Given the description of an element on the screen output the (x, y) to click on. 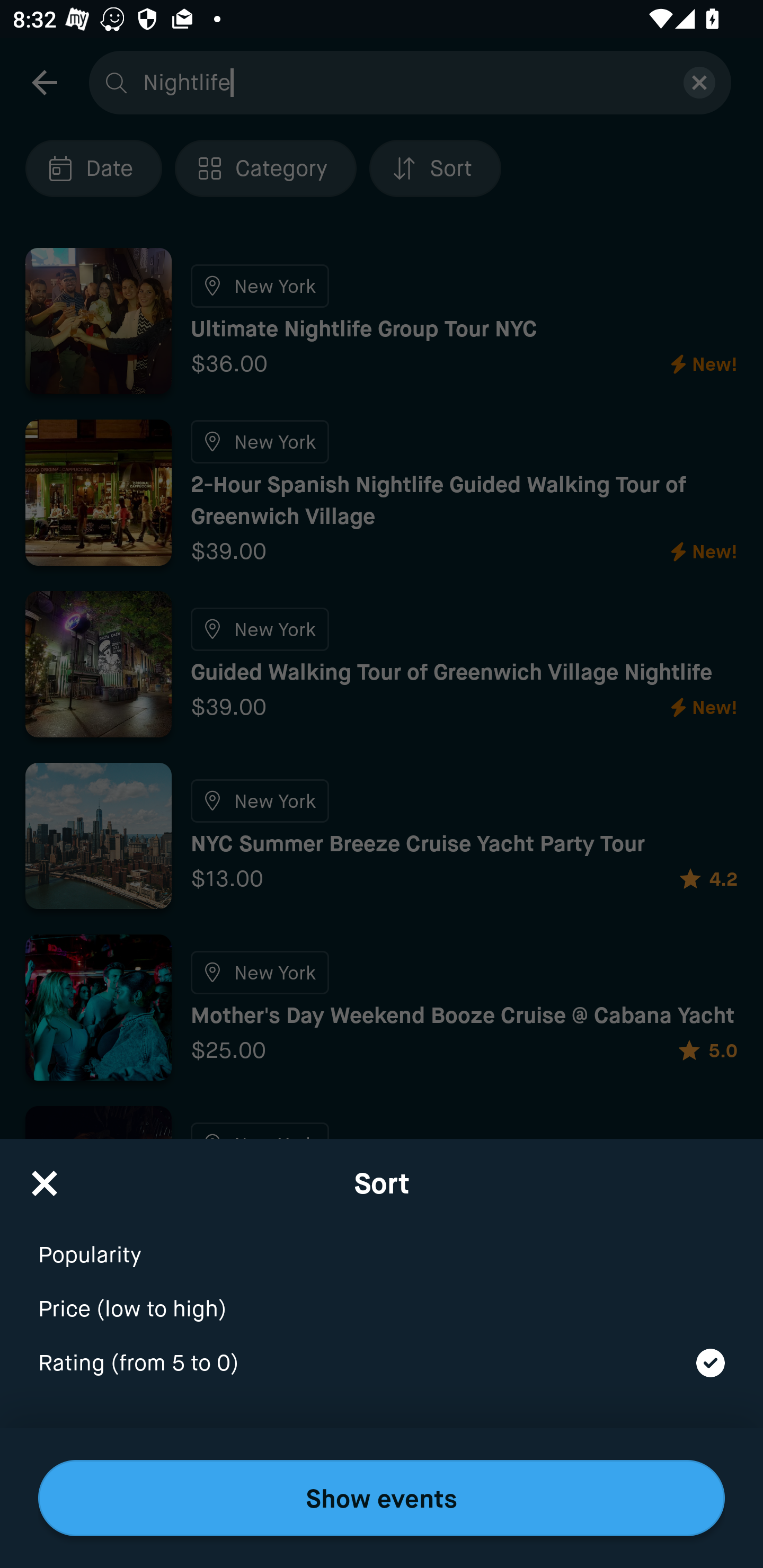
CloseButton (44, 1177)
Popularity (381, 1243)
Price (low to high) (381, 1297)
Rating (from 5 to 0) Selected Icon (381, 1362)
Show events (381, 1497)
